Given the description of an element on the screen output the (x, y) to click on. 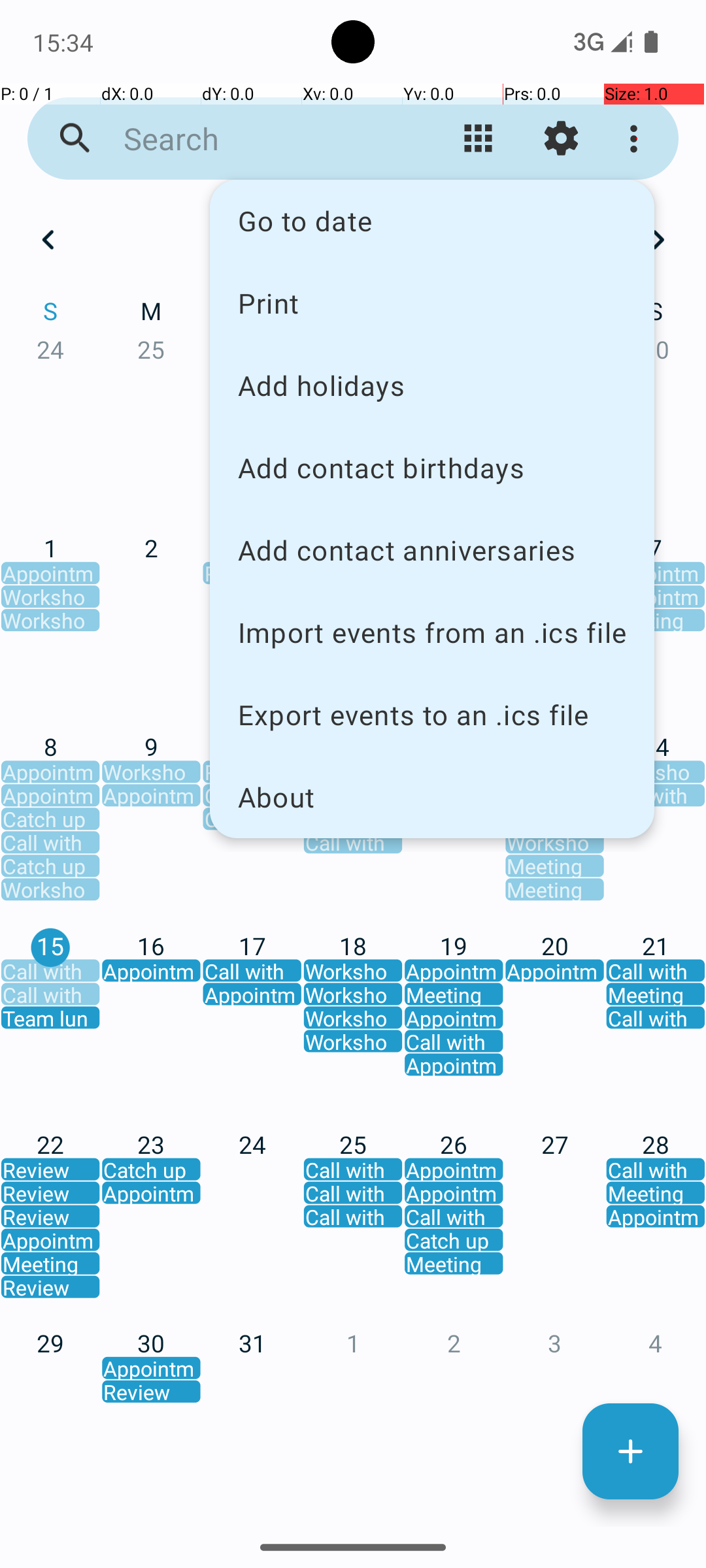
Go to date Element type: android.widget.TextView (431, 220)
Add holidays Element type: android.widget.TextView (431, 384)
Add contact birthdays Element type: android.widget.TextView (431, 467)
Add contact anniversaries Element type: android.widget.TextView (431, 549)
Import events from an .ics file Element type: android.widget.TextView (431, 631)
Export events to an .ics file Element type: android.widget.TextView (431, 714)
